Given the description of an element on the screen output the (x, y) to click on. 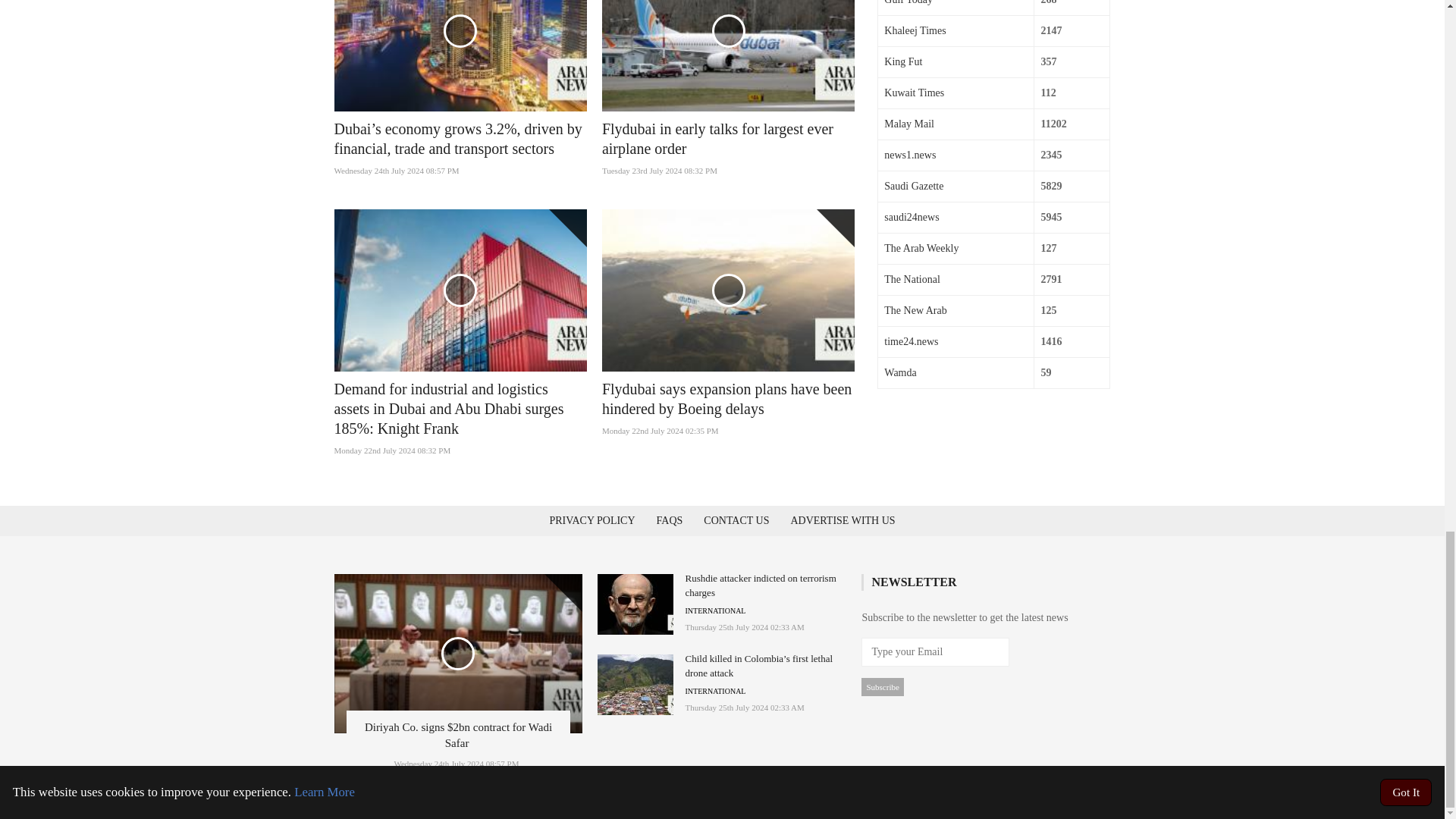
Subscribe (881, 687)
Flydubai in early talks for largest ever airplane order (717, 138)
